Given the description of an element on the screen output the (x, y) to click on. 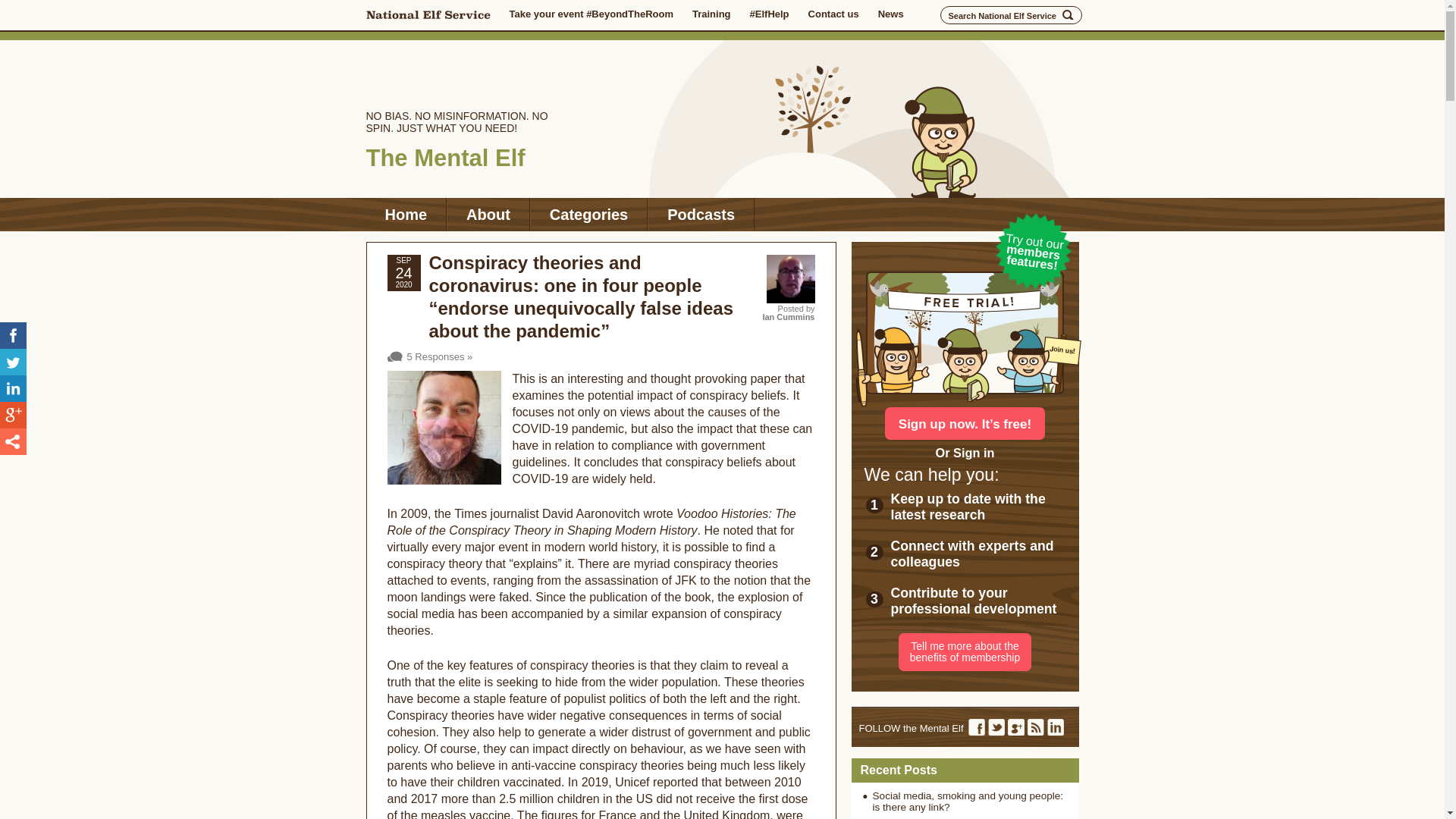
Search (1068, 14)
Home (405, 214)
Categories (588, 214)
Training (711, 13)
Contact us (833, 13)
News (890, 13)
Share on Facebook (13, 335)
About (487, 214)
Search (1068, 14)
Find us on Facebook (976, 727)
Tweet this on Twitter (13, 361)
Posts by Ian Cummins (787, 316)
Share via sharethis (13, 441)
Share on LinkedIn (13, 388)
Follow us on Twitter (996, 727)
